Given the description of an element on the screen output the (x, y) to click on. 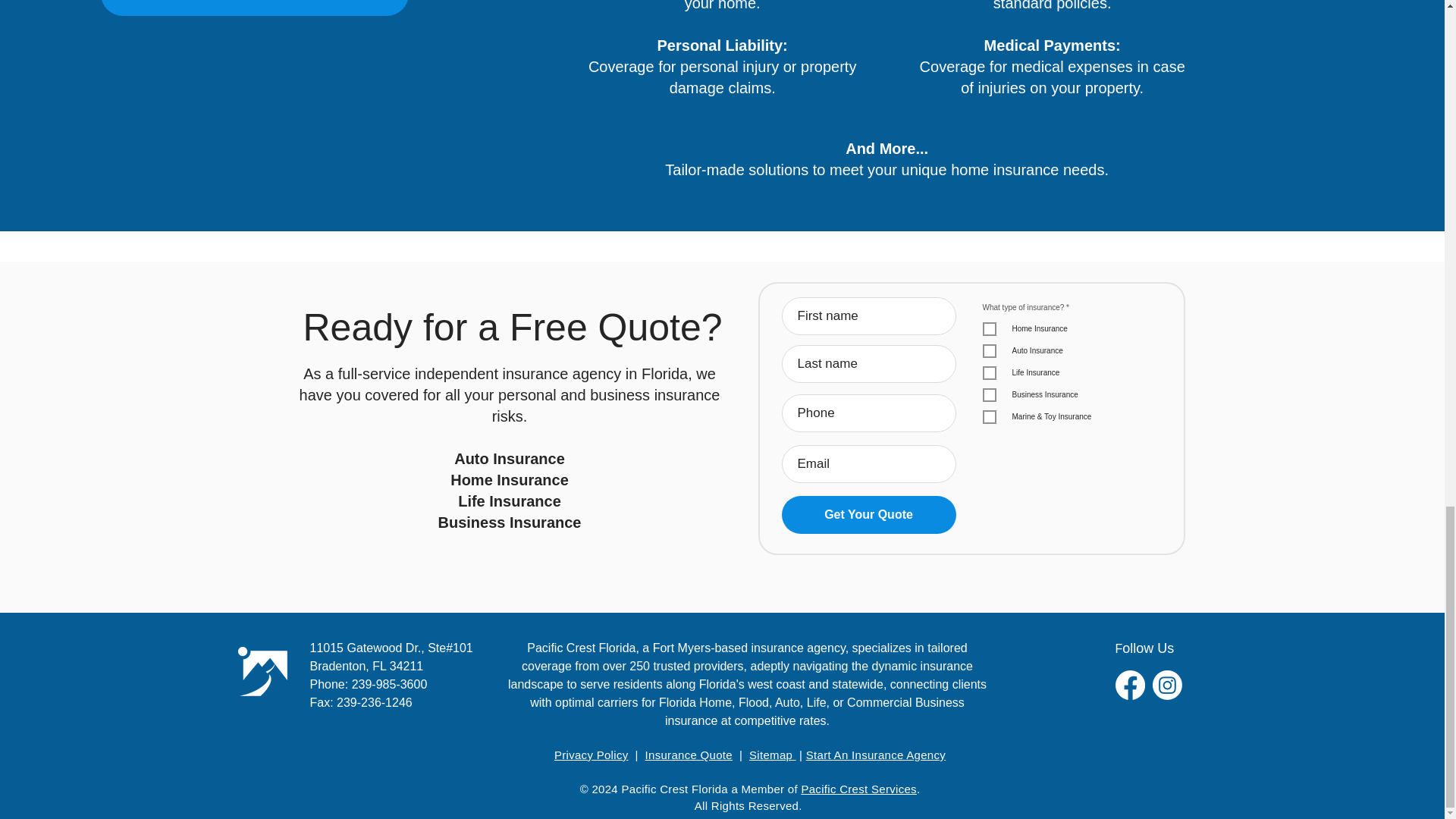
Learn More About Flood Insurance (254, 7)
Privacy Policy (591, 754)
Get Your Quote (867, 514)
Insurance Quote (688, 754)
Pacific Crest Services (857, 788)
Start An Insurance Agency (875, 754)
Sitemap  (772, 754)
